Given the description of an element on the screen output the (x, y) to click on. 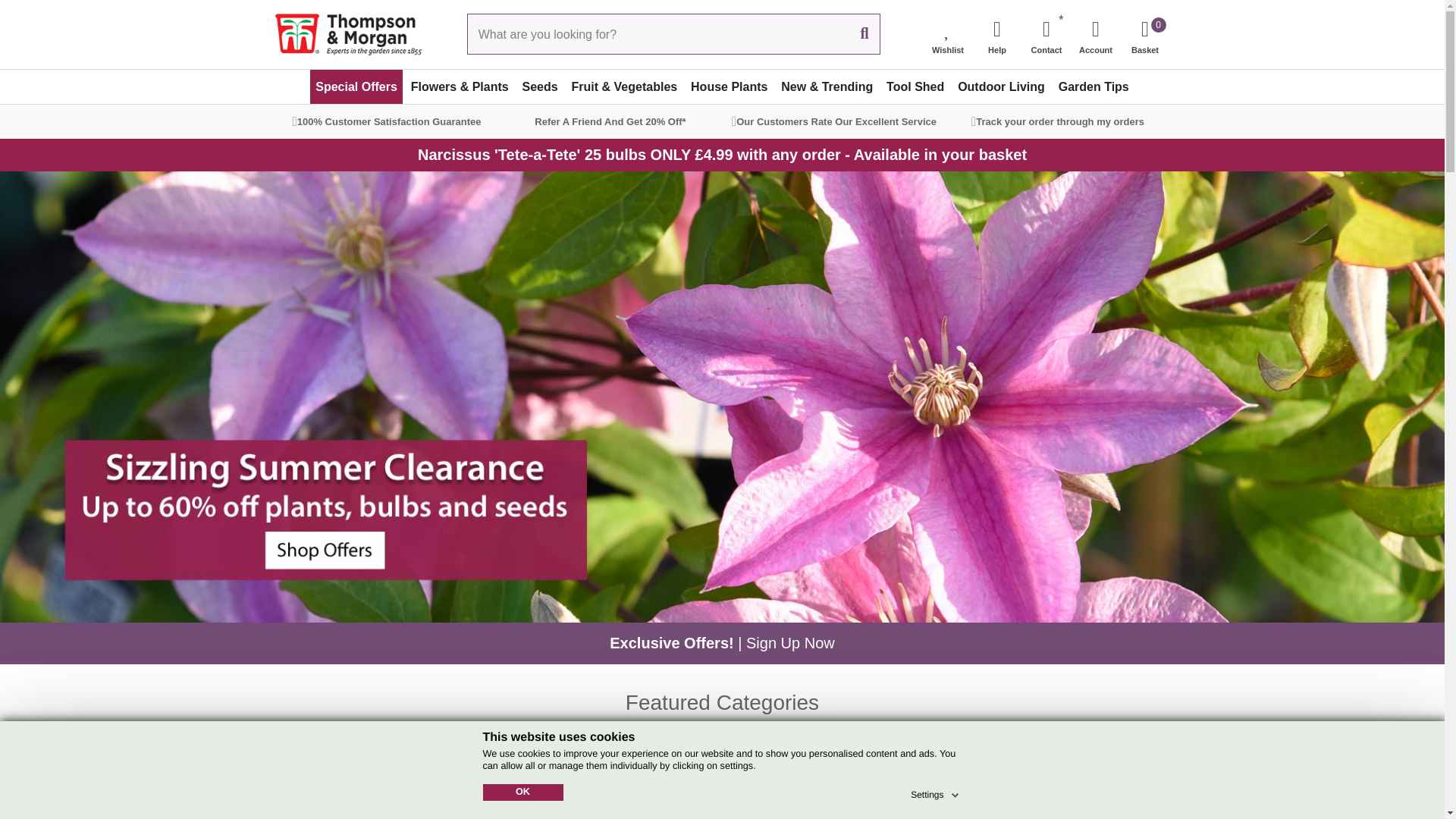
OK (521, 791)
Join (1083, 782)
Settings (935, 791)
